Given the description of an element on the screen output the (x, y) to click on. 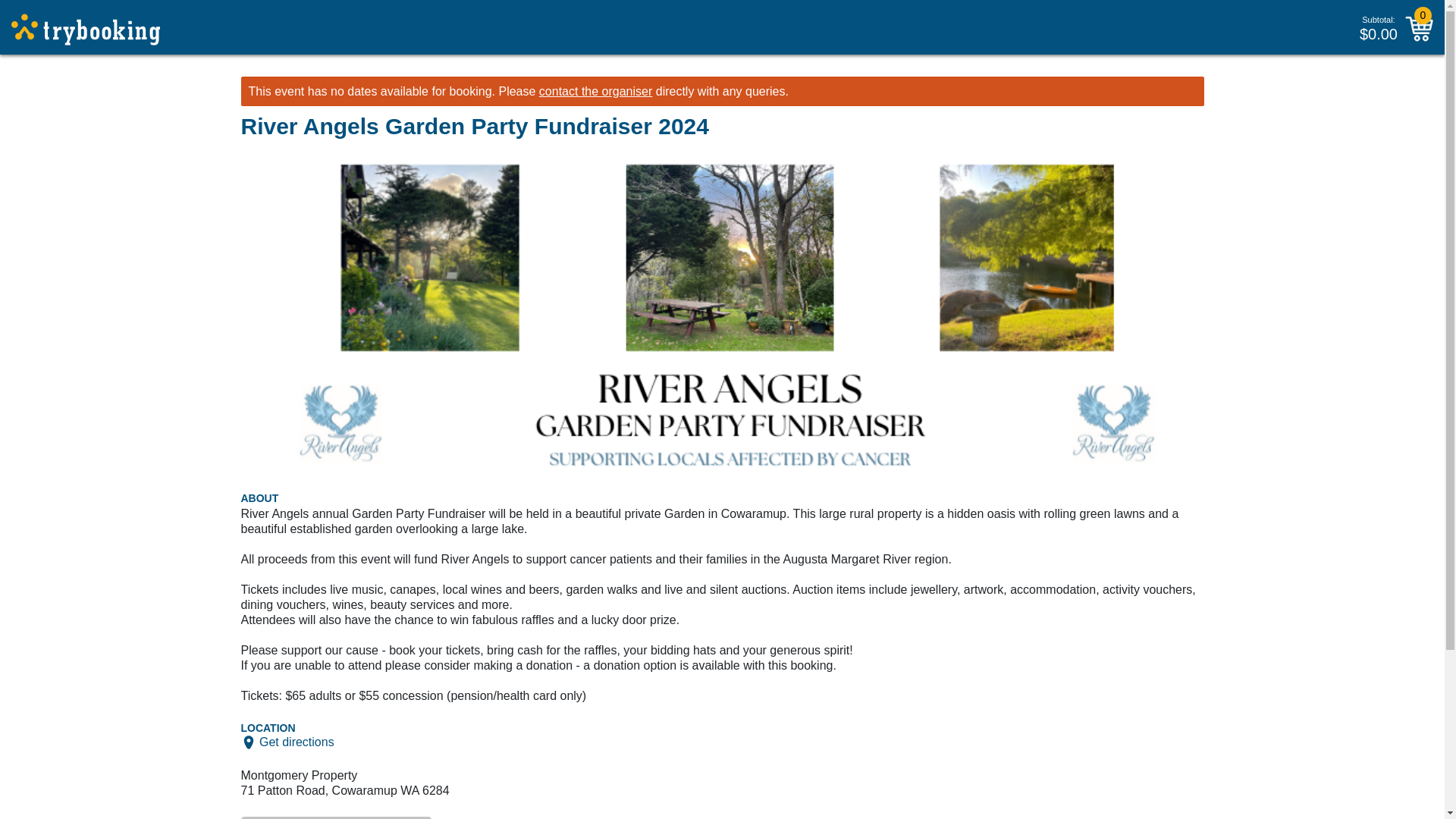
contact the organiser (595, 91)
TryBooking (85, 29)
Get directions (296, 741)
CONTACT EVENT ORGANISER (336, 817)
